Given the description of an element on the screen output the (x, y) to click on. 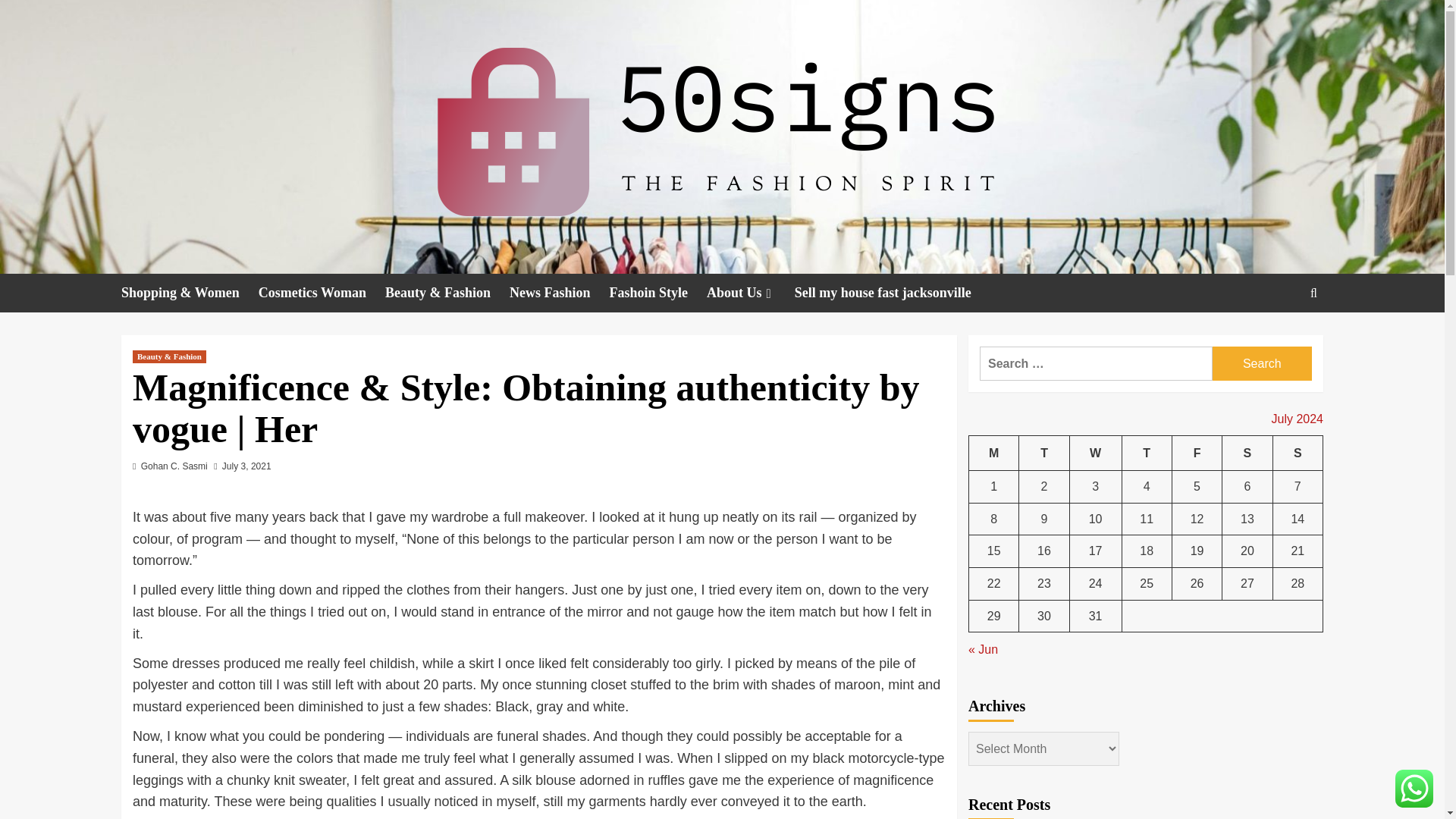
Sell my house fast jacksonville (892, 292)
Search (1278, 339)
Thursday (1146, 452)
Search (1313, 292)
Friday (1196, 452)
Tuesday (1043, 452)
Fashoin Style (657, 292)
Monday (994, 452)
News Fashion (559, 292)
Sunday (1297, 452)
July 3, 2021 (246, 466)
Cosmetics Woman (322, 292)
Saturday (1247, 452)
Search (1261, 363)
Gohan C. Sasmi (174, 466)
